Given the description of an element on the screen output the (x, y) to click on. 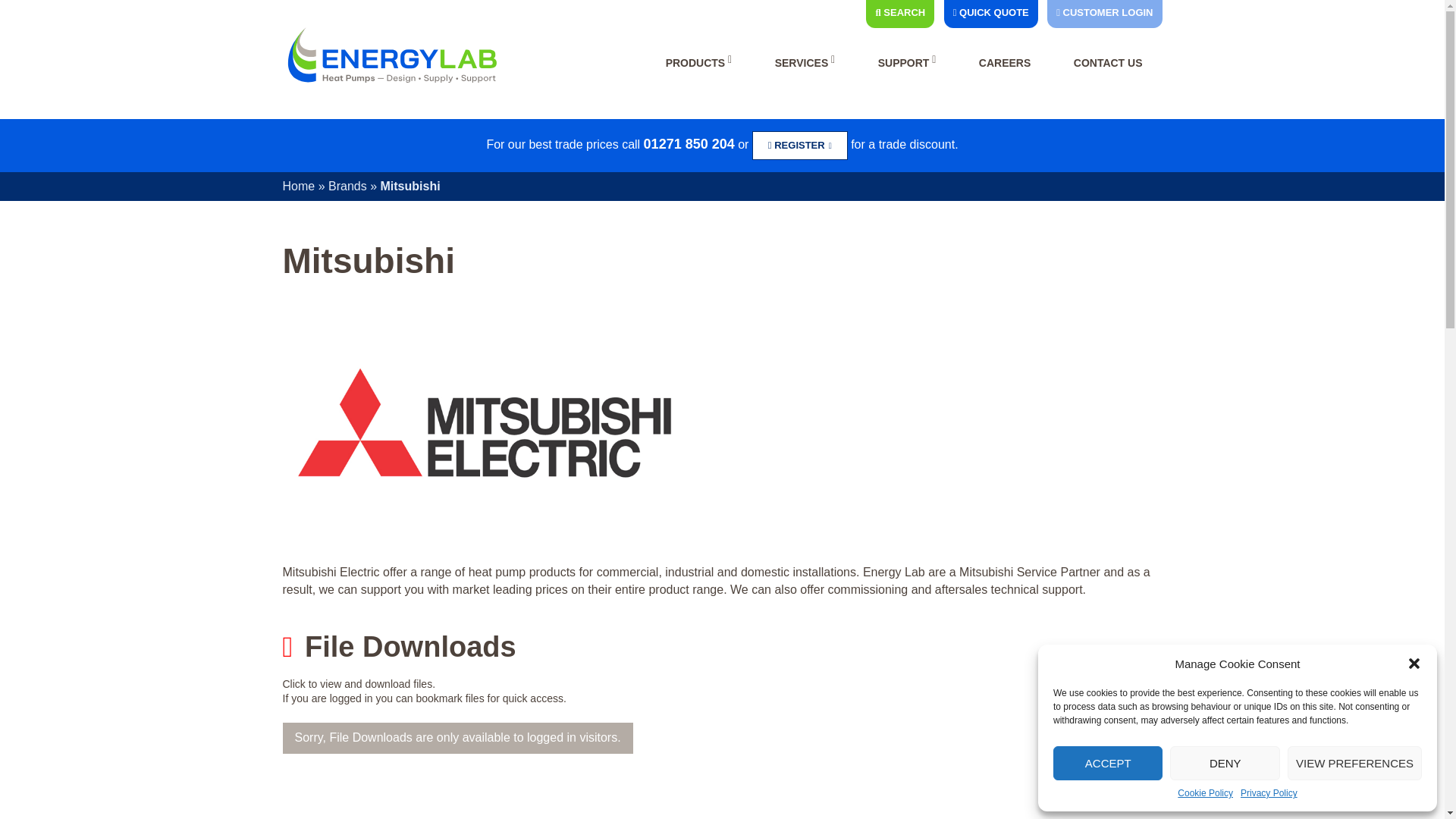
SERVICES (805, 63)
REGISTER (799, 145)
Privacy Policy (1268, 793)
ACCEPT (1106, 763)
Home (298, 185)
CAREERS (1004, 63)
QUICK QUOTE (991, 12)
SUPPORT (907, 63)
CONTACT US (1107, 63)
PRODUCTS (699, 63)
CUSTOMER LOGIN (1105, 12)
Cookie Policy (1205, 793)
VIEW PREFERENCES (1354, 763)
DENY (1224, 763)
Brands (347, 185)
